Given the description of an element on the screen output the (x, y) to click on. 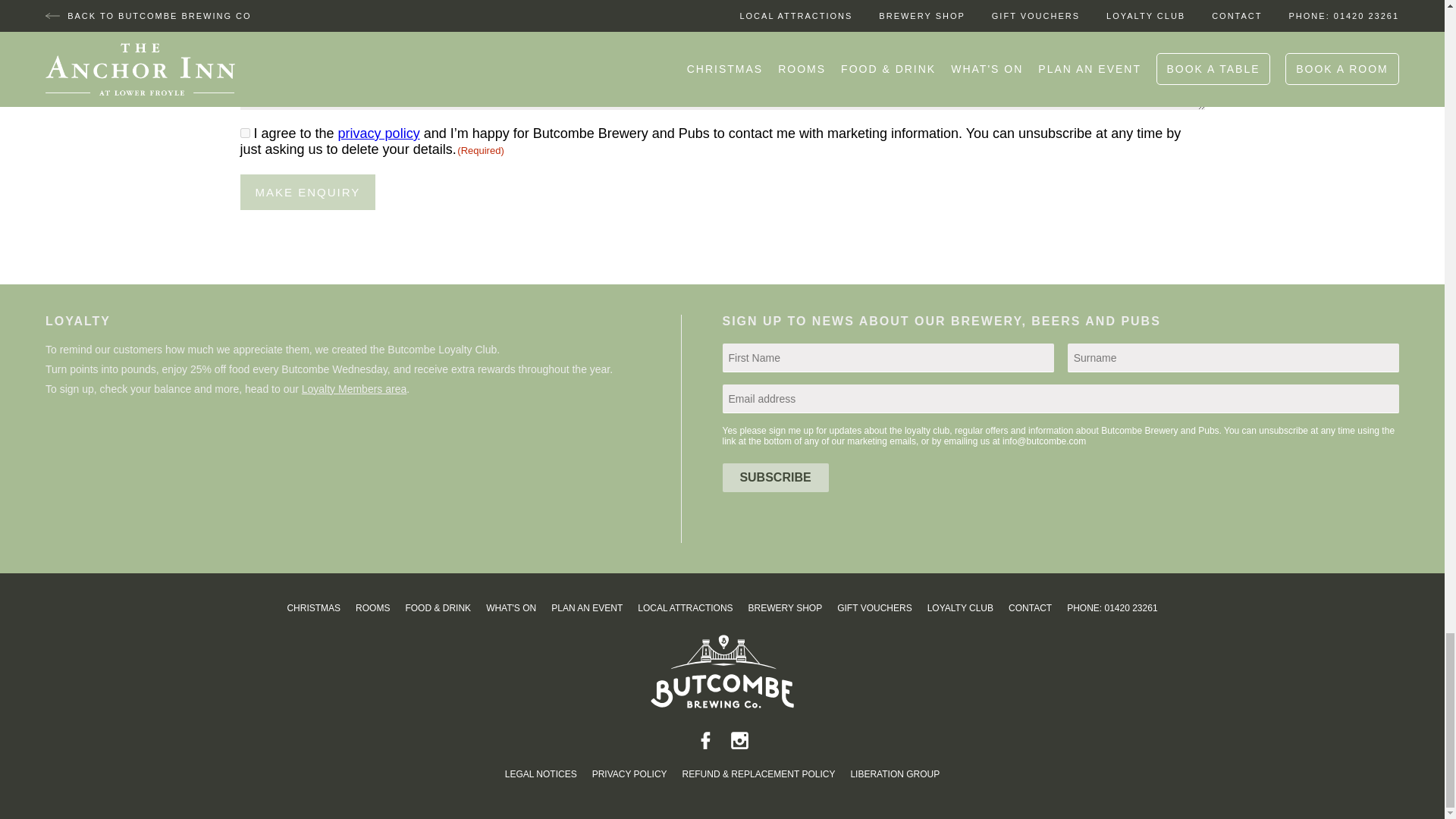
CHRISTMAS (313, 608)
Make enquiry (307, 191)
LOCAL ATTRACTIONS (684, 608)
CONTACT (1030, 608)
subscribe (775, 477)
Loyalty Members area (354, 388)
LOYALTY CLUB (959, 608)
privacy policy (378, 133)
PLAN AN EVENT (587, 608)
subscribe (775, 477)
1 (244, 132)
ROOMS (372, 608)
WHAT'S ON (510, 608)
BREWERY SHOP (785, 608)
PHONE: 01420 23261 (1112, 608)
